Given the description of an element on the screen output the (x, y) to click on. 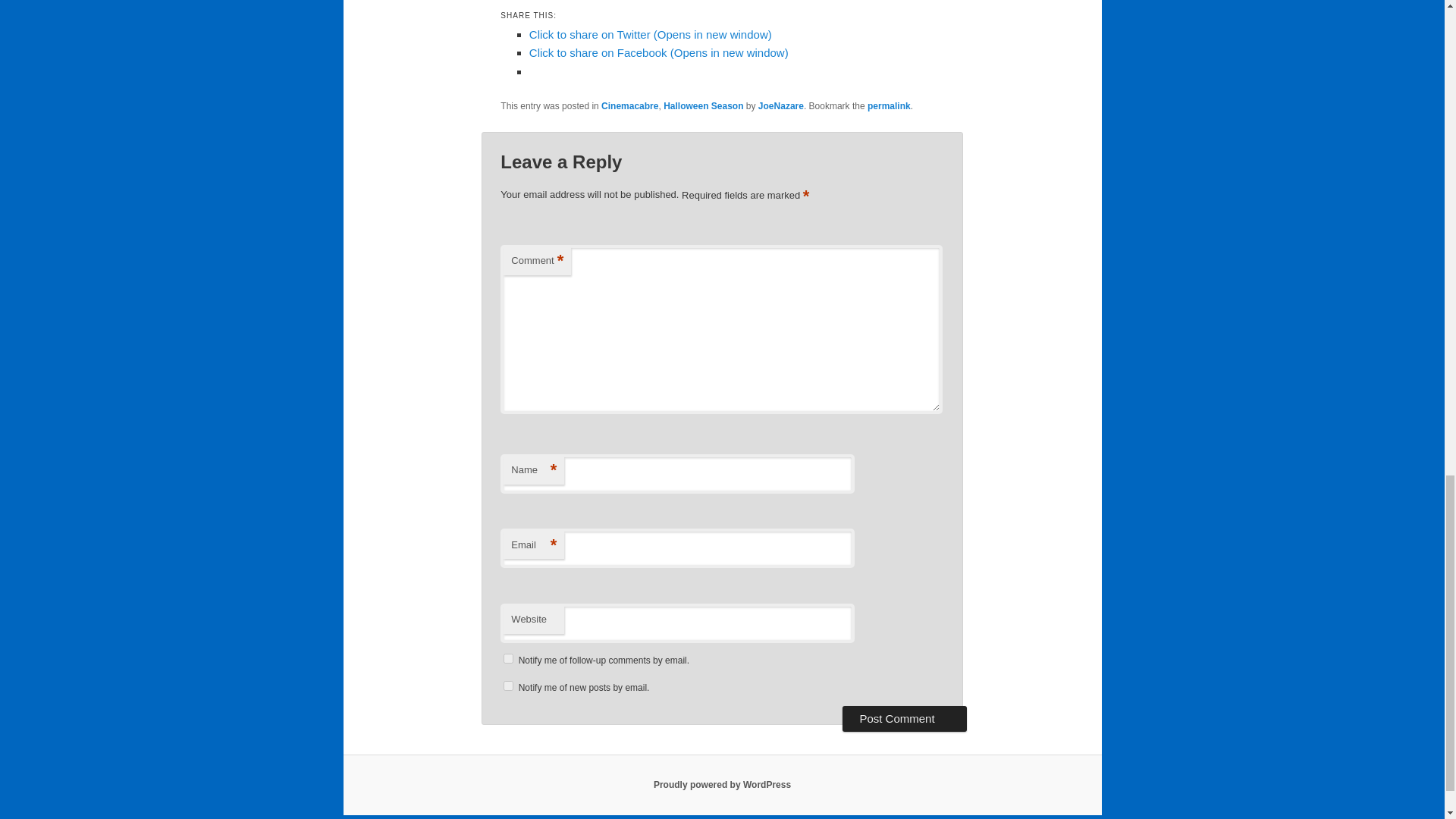
JoeNazare (780, 105)
Halloween Season (702, 105)
Proudly powered by WordPress (721, 784)
Click to share on Facebook (659, 51)
subscribe (508, 658)
permalink (889, 105)
Post Comment (904, 718)
Cinemacabre (629, 105)
Post Comment (904, 718)
subscribe (508, 685)
Semantic Personal Publishing Platform (721, 784)
Click to share on Twitter (650, 33)
Permalink to Back to Haddonfield (889, 105)
